Given the description of an element on the screen output the (x, y) to click on. 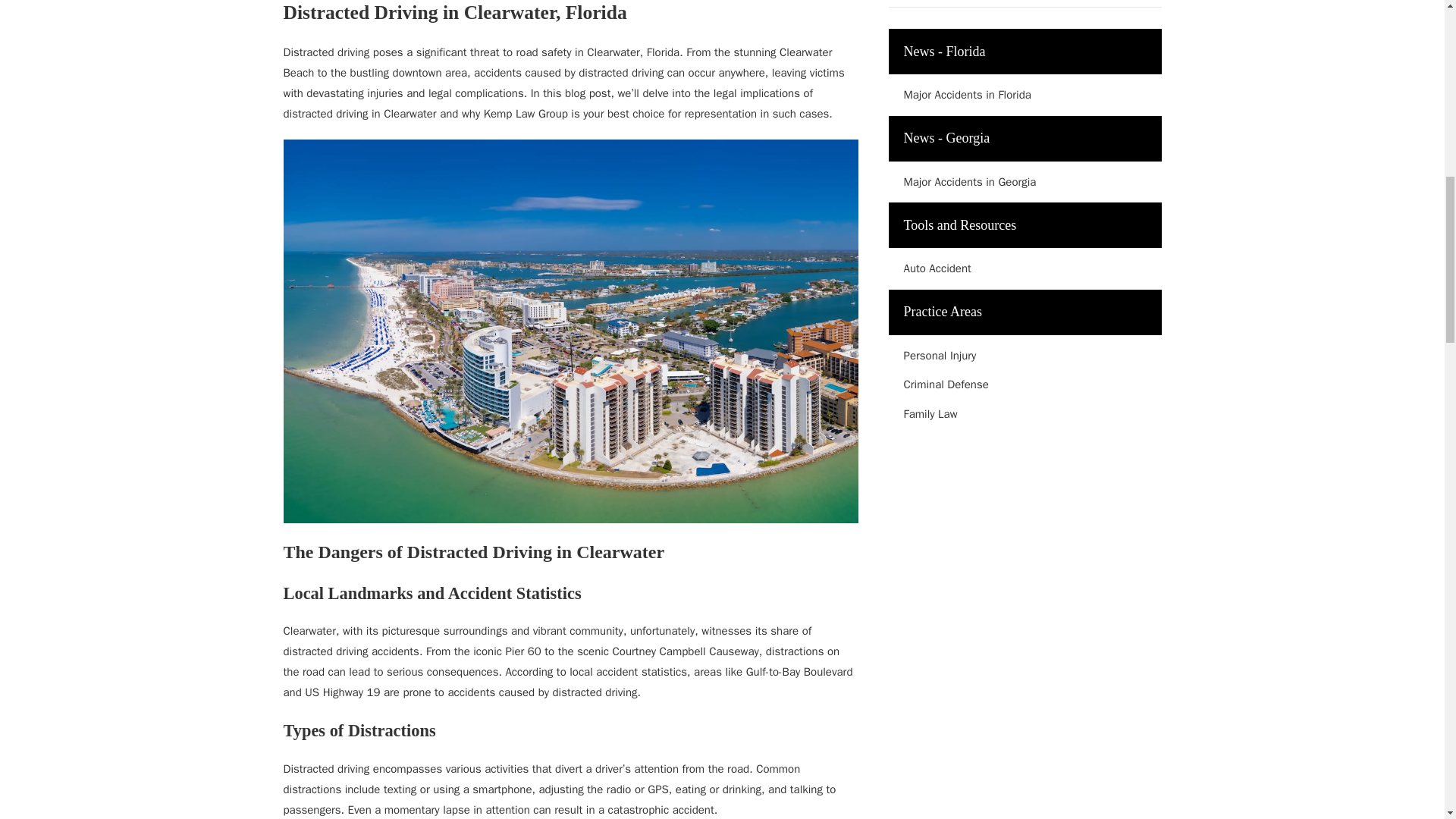
News - Florida (1024, 51)
Major Accidents in Florida (1024, 95)
